Given the description of an element on the screen output the (x, y) to click on. 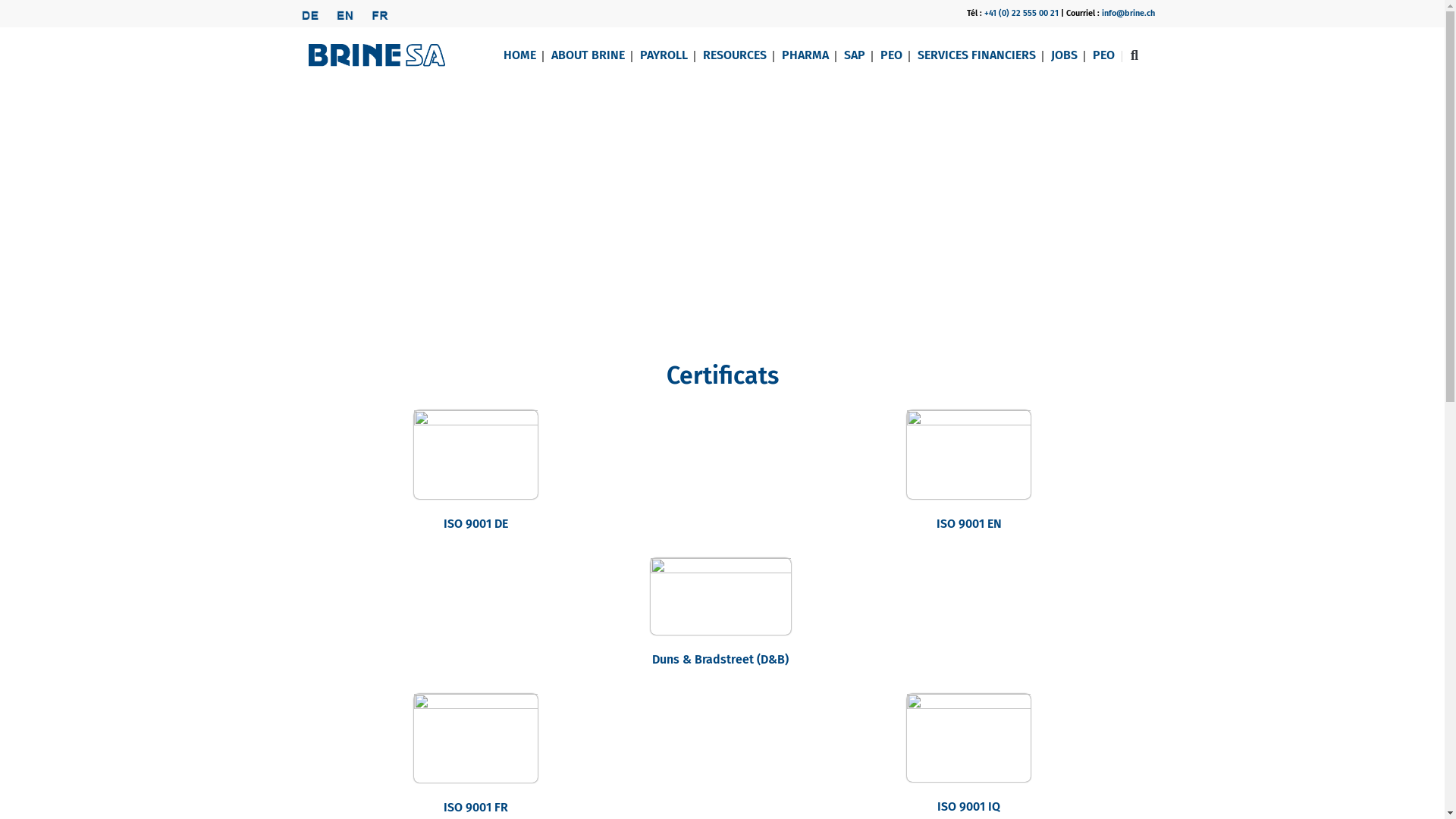
HOME Element type: text (519, 54)
RESOURCES Element type: text (733, 54)
ISO 9001 EN Element type: text (968, 523)
info@brine.ch Element type: text (1127, 13)
PEO Element type: text (1102, 54)
ABOUT BRINE Element type: text (586, 54)
ISO 9001 IQ Element type: text (968, 806)
PAYROLL Element type: text (663, 54)
ISO 9001 DE Element type: text (475, 523)
PHARMA Element type: text (804, 54)
JOBS Element type: text (1064, 54)
PEO Element type: text (890, 54)
ISO 9001 FR Element type: text (475, 807)
SAP Element type: text (853, 54)
SERVICES FINANCIERS Element type: text (976, 54)
Duns & Bradstreet (D&B) Element type: text (720, 659)
+41 (0) 22 555 00 21 Element type: text (1021, 13)
